Given the description of an element on the screen output the (x, y) to click on. 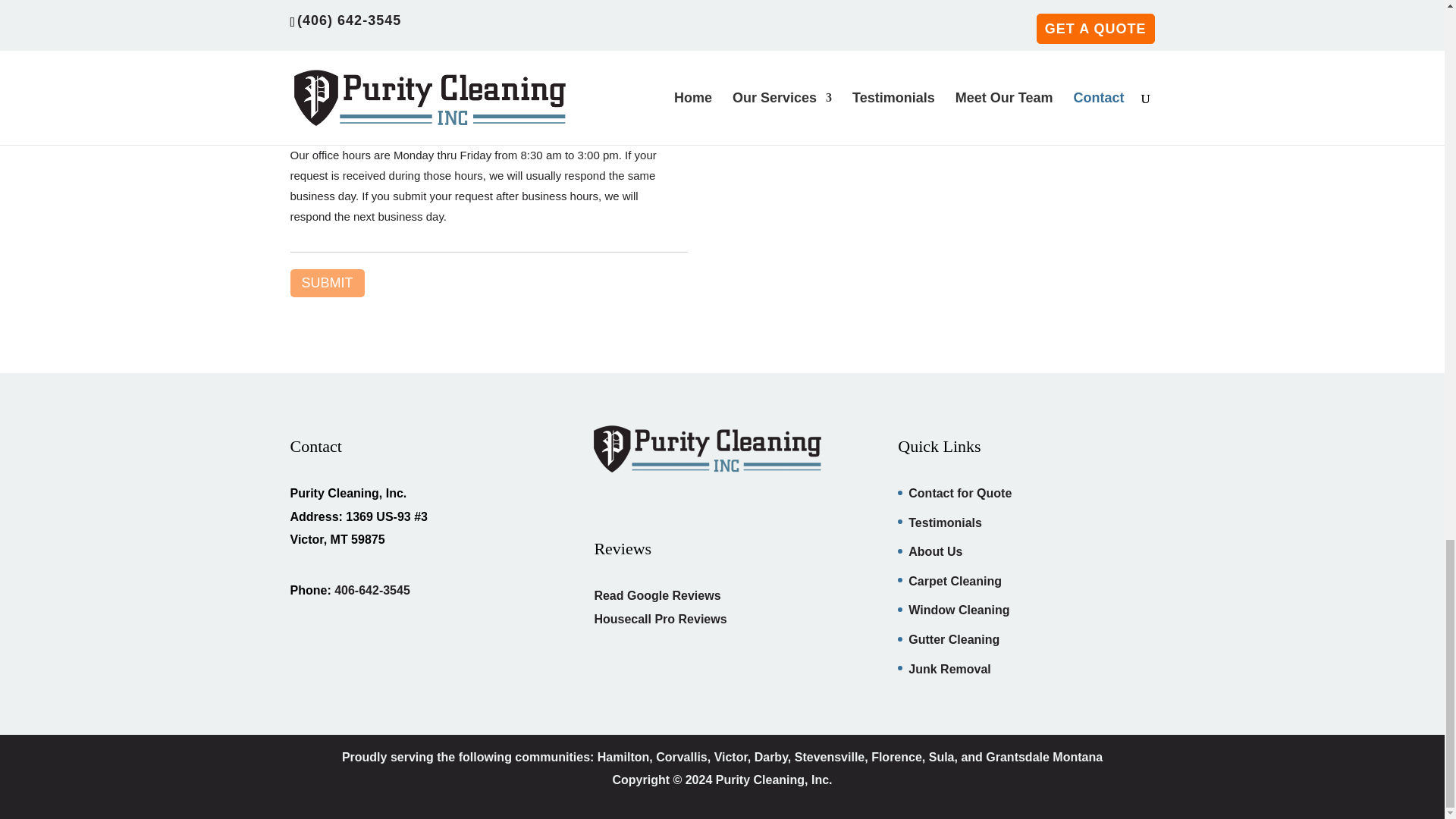
Contact for Quote (959, 492)
Window Cleaning (958, 609)
Housecall Pro Reviews (660, 618)
Read Google Reviews (657, 594)
Junk Removal (949, 668)
Submit (326, 283)
406-642-3545 (372, 590)
Testimonials (944, 522)
About Us (935, 551)
Gutter Cleaning (953, 639)
Carpet Cleaning (954, 581)
Submit (326, 283)
